Given the description of an element on the screen output the (x, y) to click on. 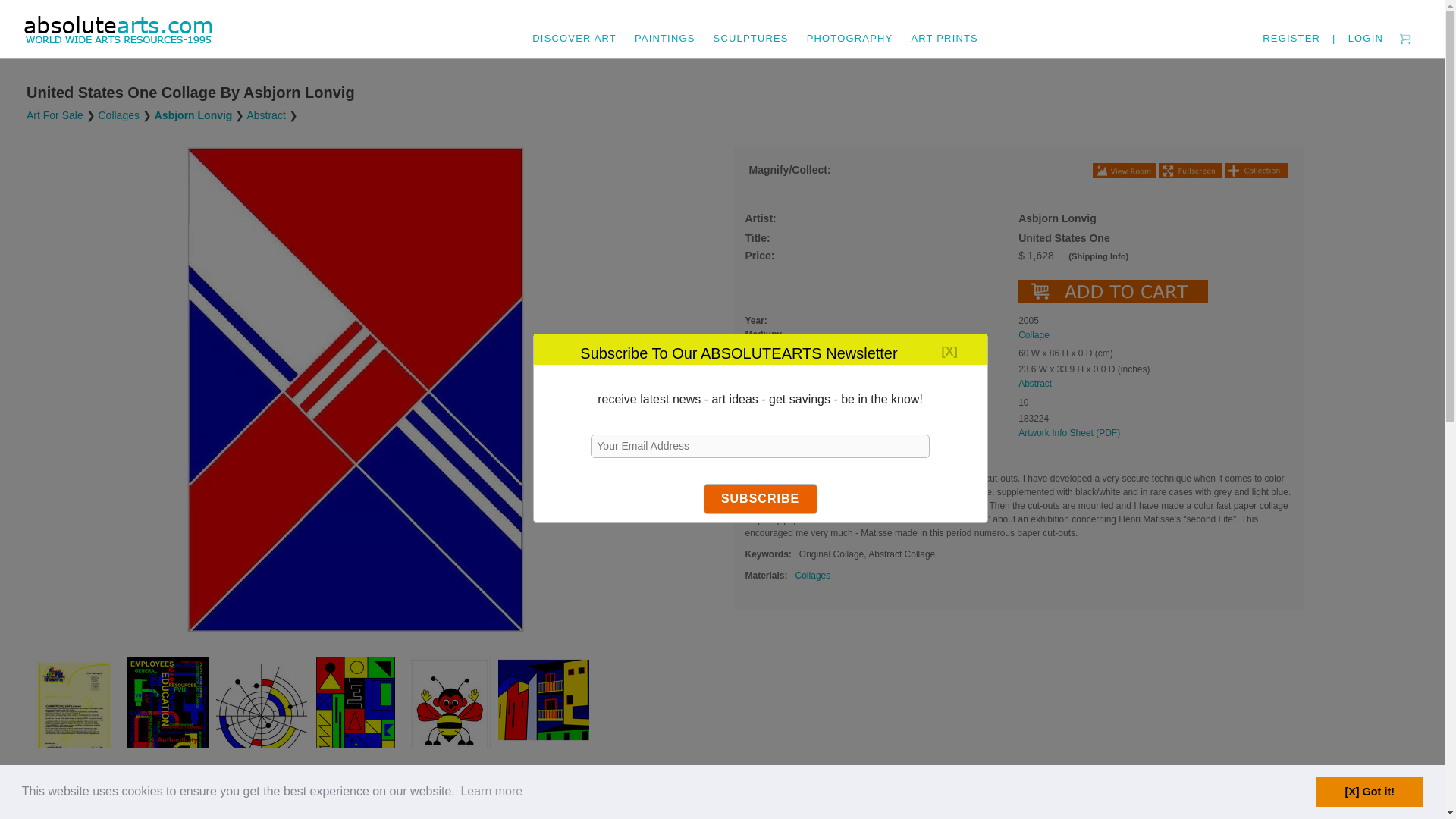
Enlarge Artwork Fullscreen (1189, 170)
View Artwork in a Room (1124, 170)
Learn more (491, 791)
Pintrest (143, 780)
PAINTINGS (664, 28)
Twitter (167, 780)
SCULPTURES (751, 28)
Go To Previous Artwork (34, 780)
DISCOVER ART (573, 28)
Share On Facebook (119, 780)
Add To Your Collection (1255, 170)
View Artwork In A Room Setting (67, 780)
